Given the description of an element on the screen output the (x, y) to click on. 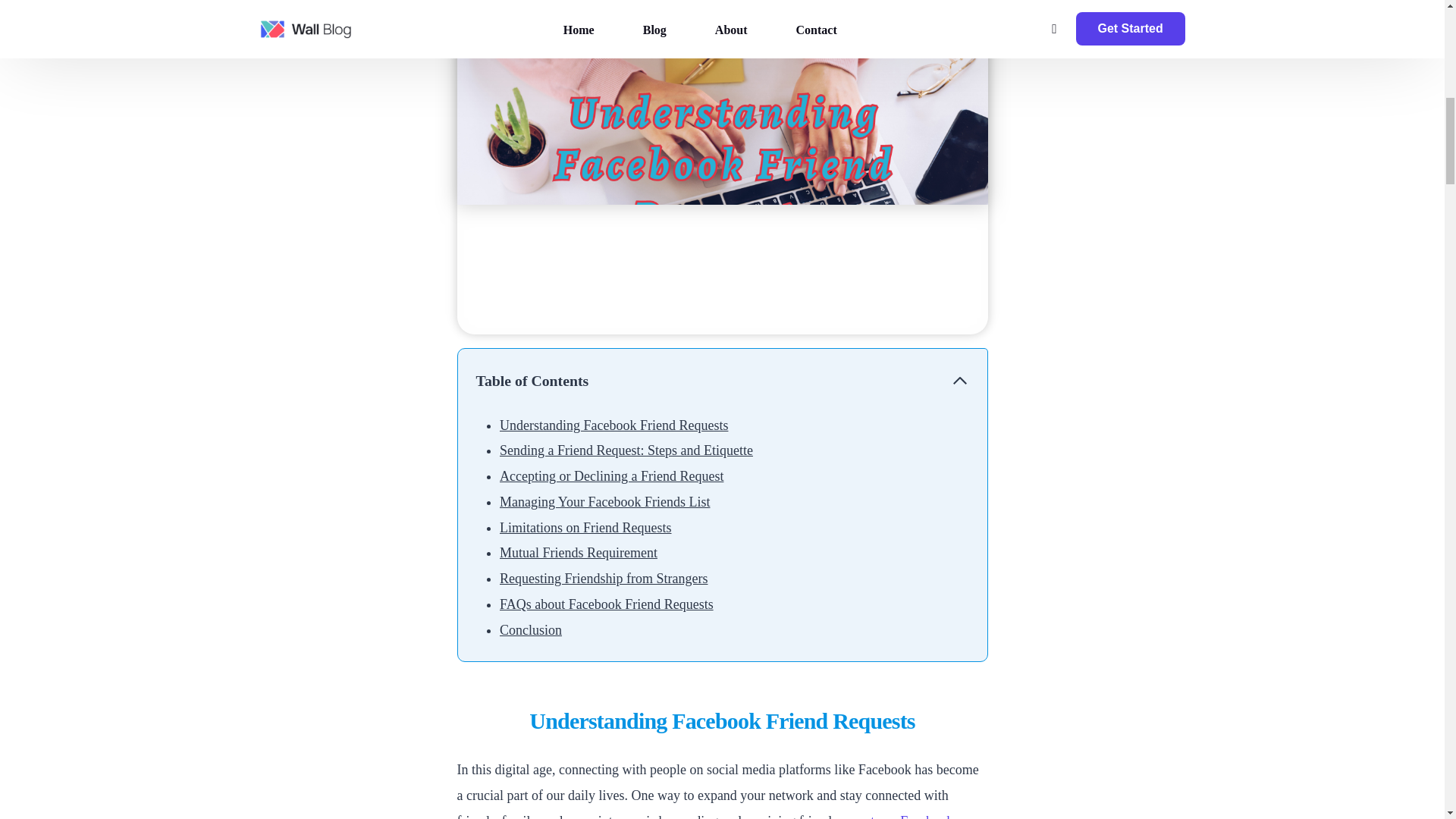
Sending a Friend Request: Steps and Etiquette (625, 450)
Managing Your Facebook Friends List (604, 501)
Requesting Friendship from Strangers (603, 578)
FAQs about Facebook Friend Requests (606, 604)
requests on Facebook (893, 816)
Conclusion (530, 630)
Limitations on Friend Requests (585, 527)
Accepting or Declining a Friend Request (611, 476)
Understanding Facebook Friend Requests (613, 425)
Mutual Friends Requirement (578, 552)
